Given the description of an element on the screen output the (x, y) to click on. 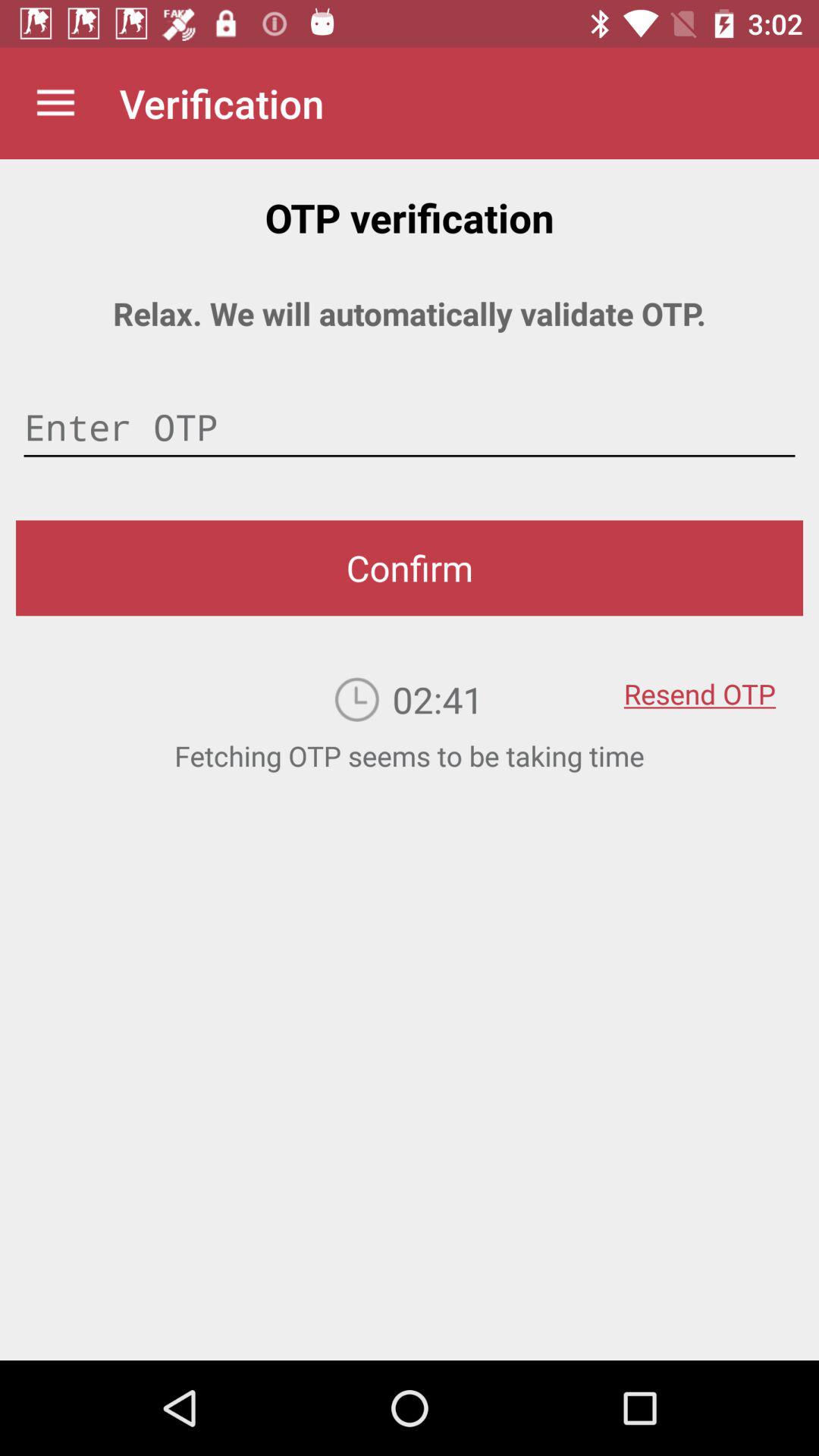
swipe until resend otp (699, 683)
